Given the description of an element on the screen output the (x, y) to click on. 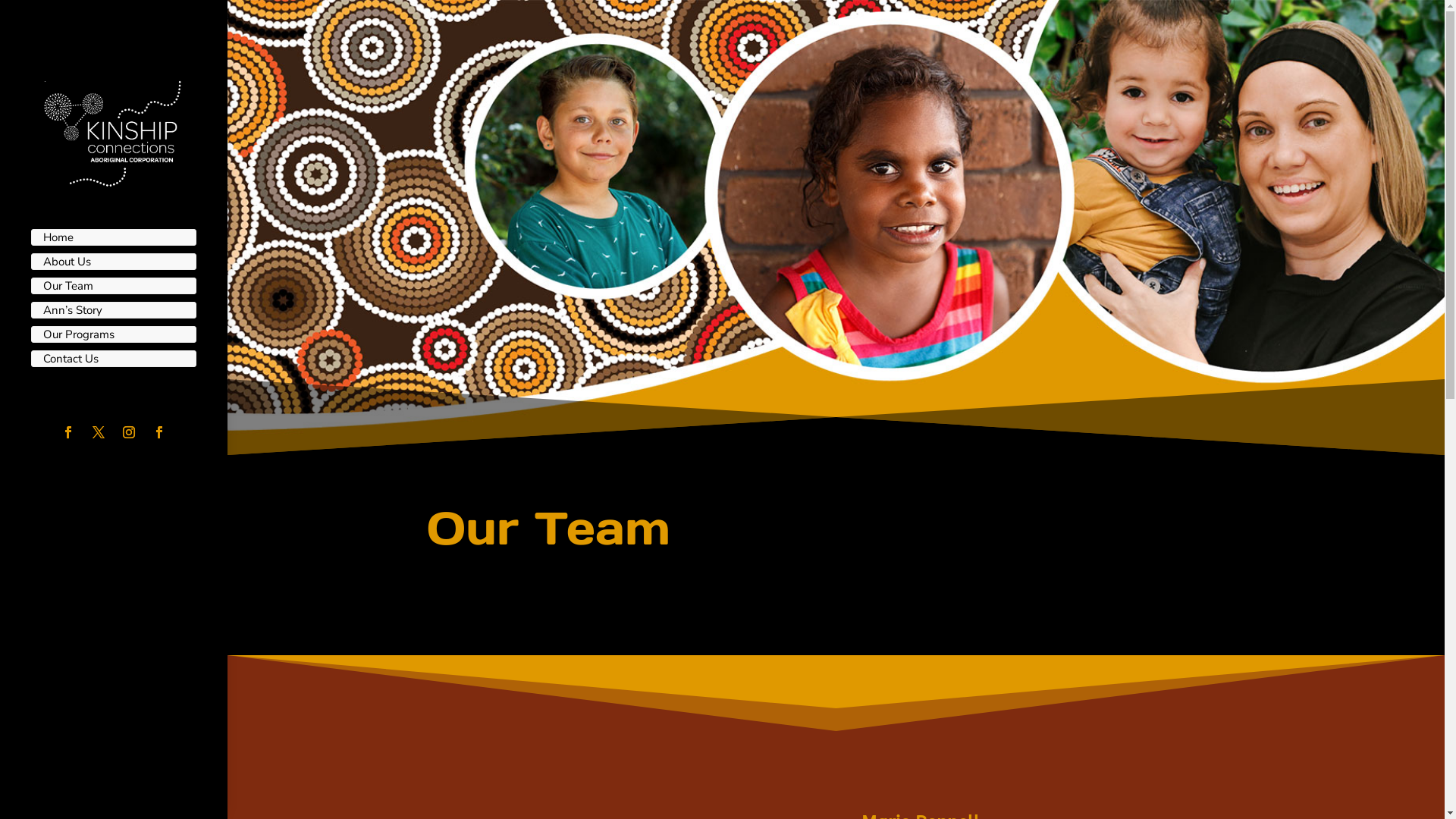
About Us Element type: text (113, 261)
Follow on X Element type: hover (98, 432)
Home Element type: text (113, 237)
Follow on Facebook Element type: hover (68, 432)
Contact Us Element type: text (113, 358)
our-team-bg Element type: hover (835, 227)
Our Team Element type: text (113, 285)
Our Programs Element type: text (113, 334)
Follow on Instagram Element type: hover (128, 432)
Follow on LinkedIn Element type: hover (159, 432)
